Given the description of an element on the screen output the (x, y) to click on. 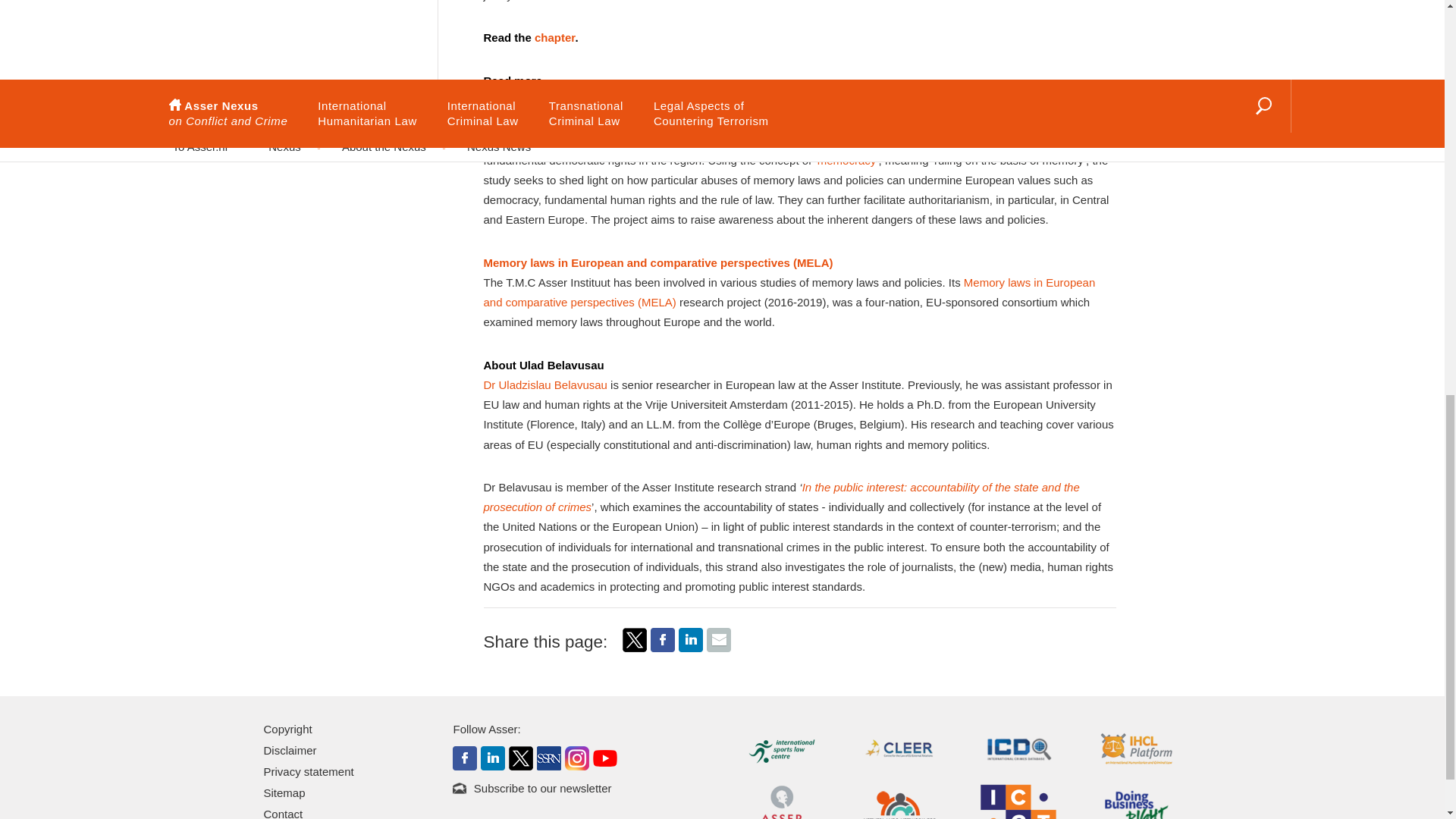
Like us on Facebook (464, 757)
Tweet (634, 647)
Facebook (662, 647)
Follow us on YouTube (604, 757)
Asser Press (781, 808)
Follow us on LinkedIn (492, 757)
International Crimes Database (1018, 748)
Tweet (634, 639)
Follow us on Instagram (576, 757)
Facebook (662, 639)
